Given the description of an element on the screen output the (x, y) to click on. 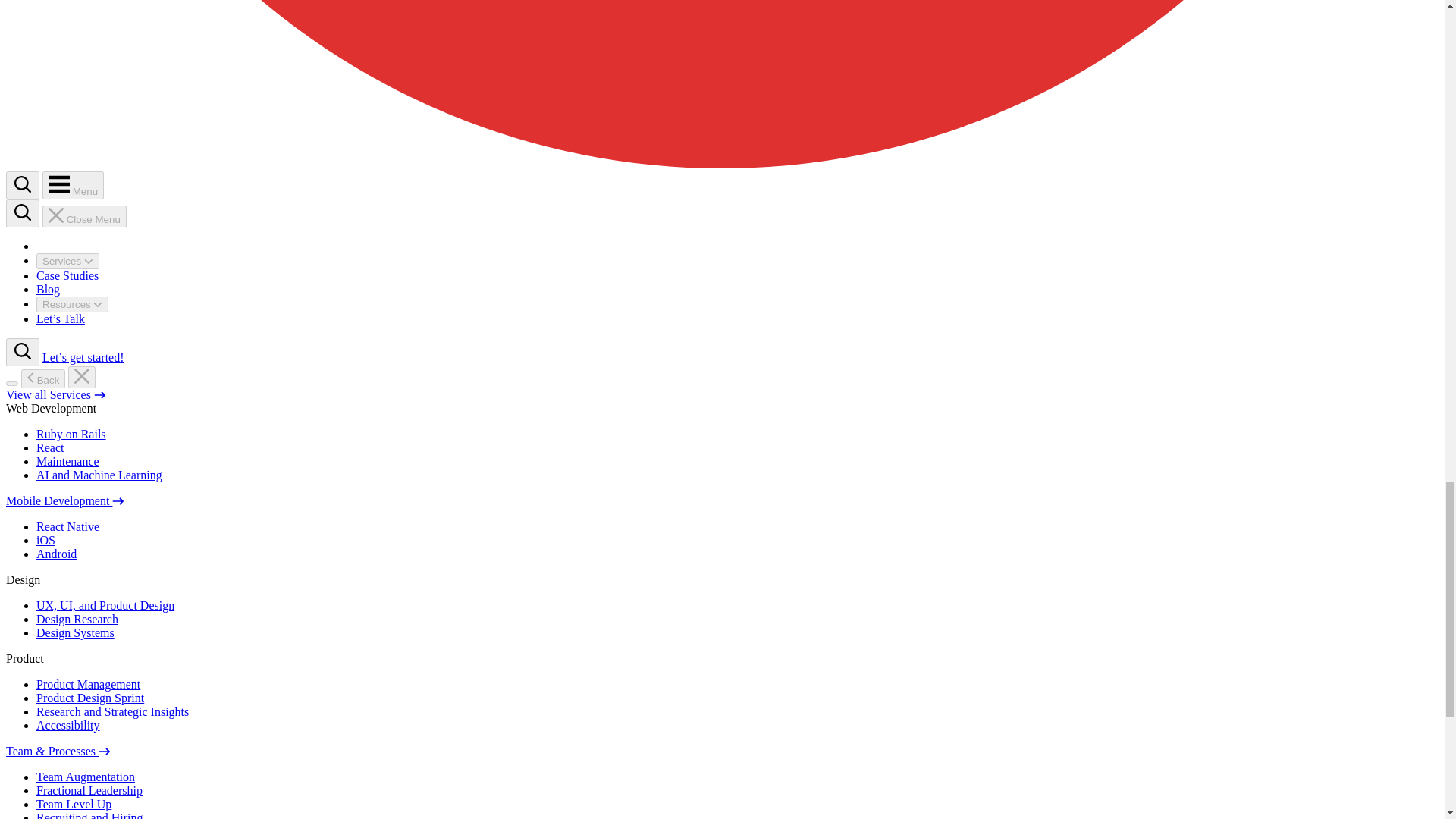
Recruiting and Hiring (89, 815)
React Native (67, 526)
Search thoughtbot.com (22, 213)
Search thoughtbot.com (22, 185)
Android (56, 553)
Back (43, 378)
Mobile Development (64, 500)
Blog (47, 288)
Team Augmentation (85, 776)
Design Systems (75, 632)
React (50, 447)
Product Design Sprint (90, 697)
Close Menu (84, 216)
Accessibility (68, 725)
AI and Machine Learning (98, 474)
